Given the description of an element on the screen output the (x, y) to click on. 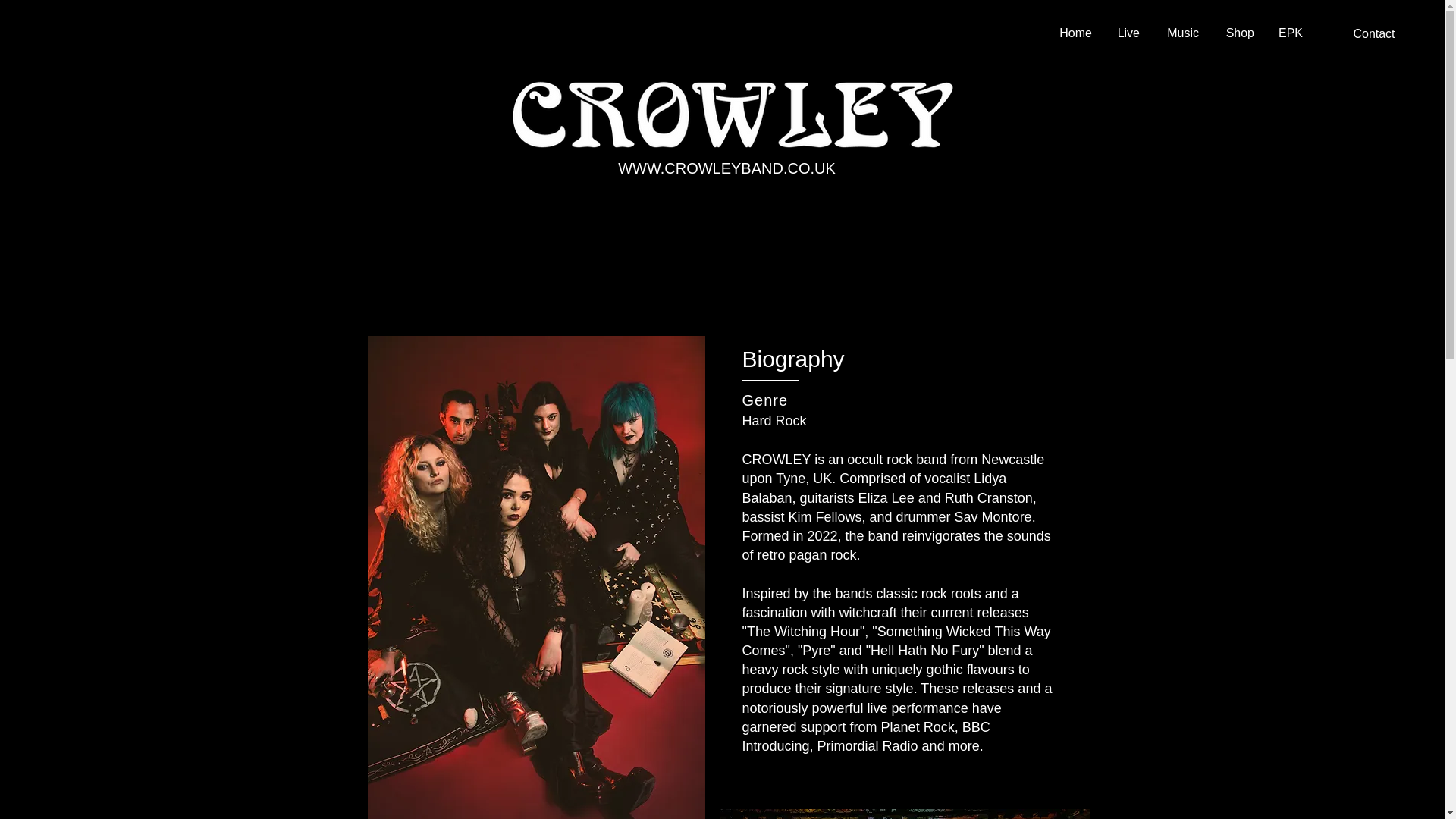
WWW.CROWLEYBAND.CO.UK (726, 167)
EPK (1289, 33)
Music (1180, 33)
Home (1072, 33)
Contact (1373, 33)
Live (1127, 33)
Shop (1237, 33)
